Given the description of an element on the screen output the (x, y) to click on. 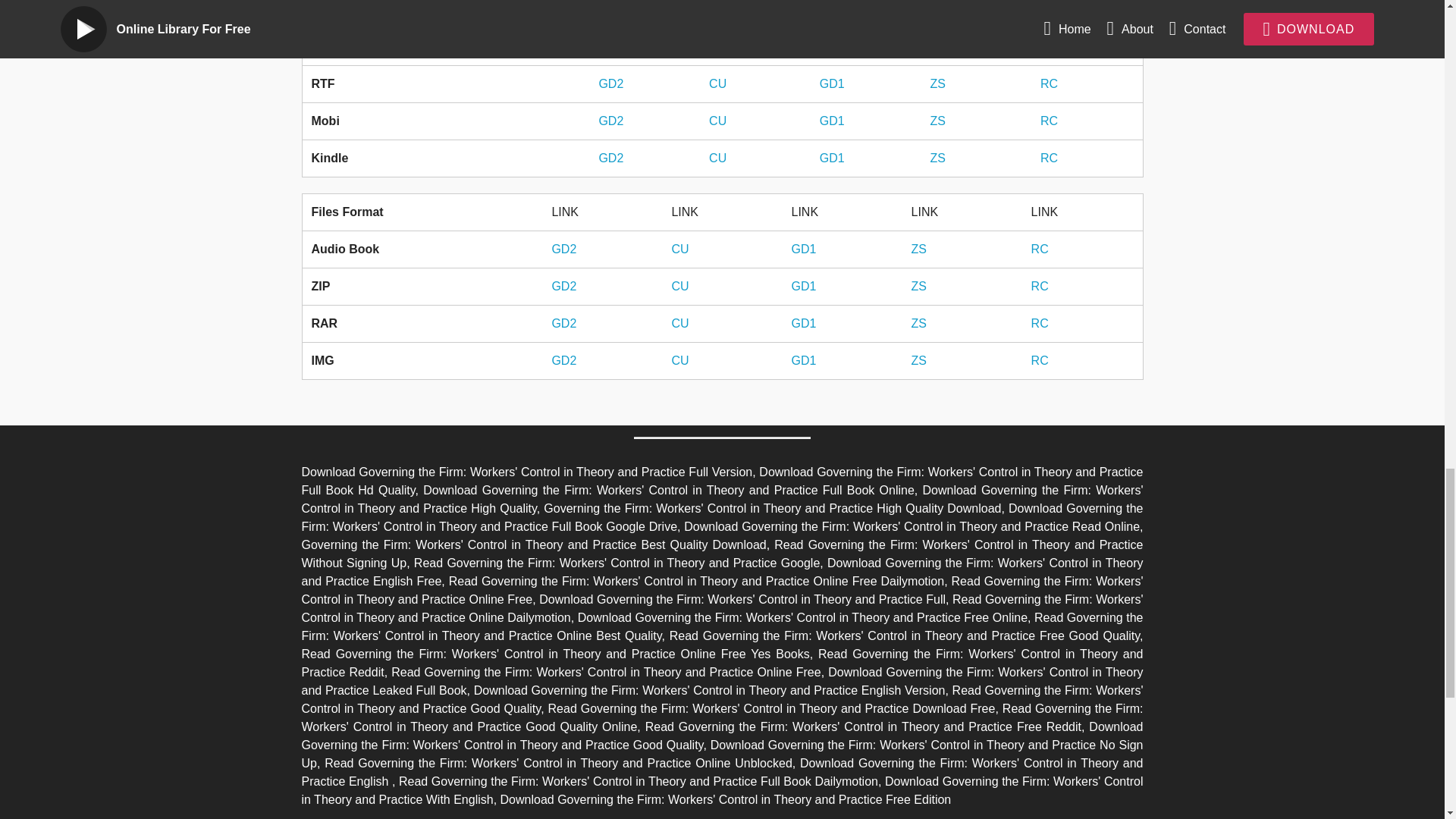
GD2 (610, 46)
GD2 (610, 83)
CU (717, 46)
ZS (937, 46)
RC (1049, 46)
RC (1049, 83)
ZS (918, 248)
GD1 (831, 120)
GD2 (563, 286)
RC (1049, 120)
GD1 (802, 248)
CU (717, 157)
ZS (937, 157)
RC (1039, 248)
CU (679, 248)
